Given the description of an element on the screen output the (x, y) to click on. 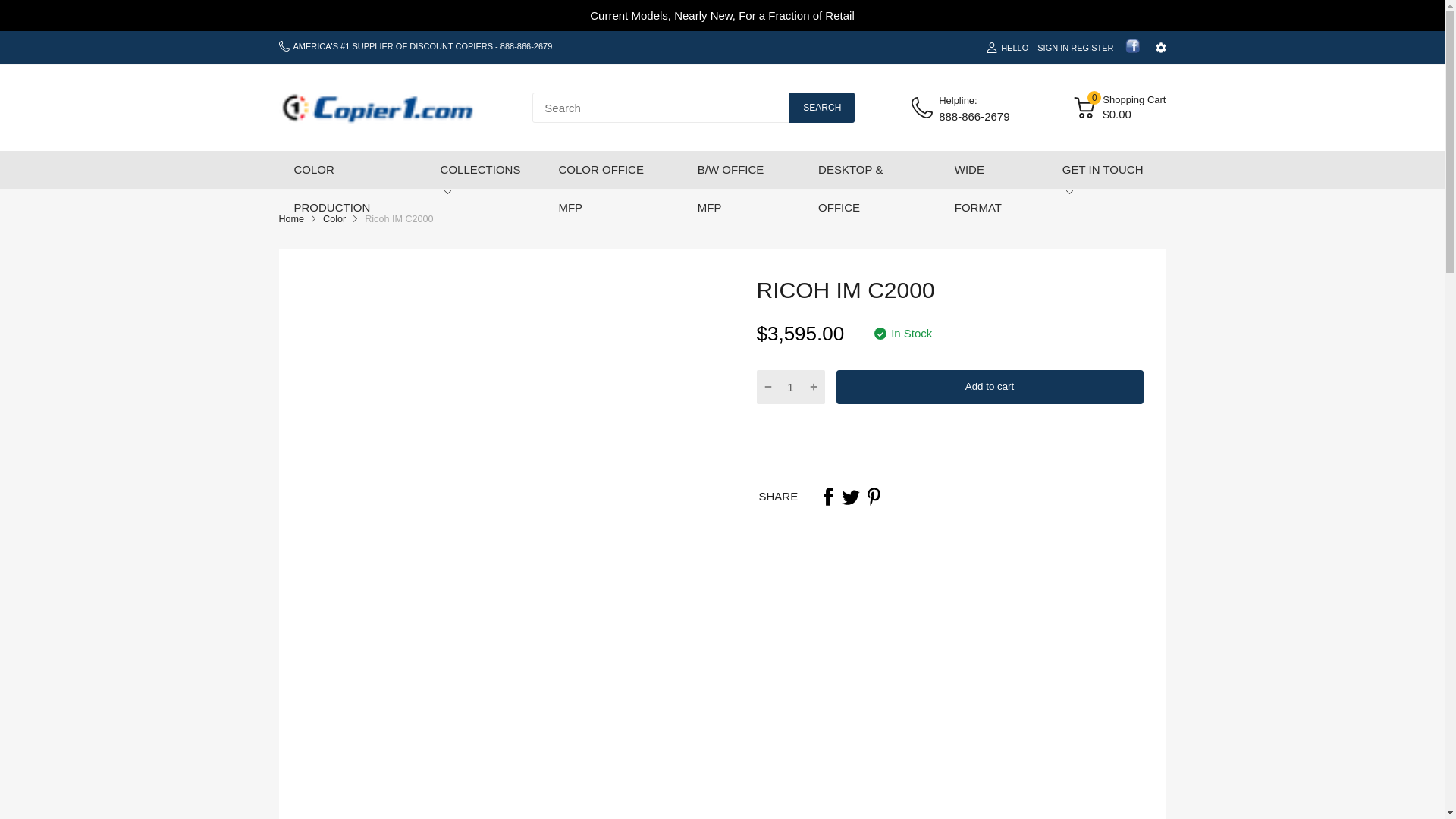
REGISTER (1091, 46)
888-866-2679 (526, 45)
Add to cart (988, 387)
WIDE FORMAT (993, 188)
HELLO (1006, 47)
Facebook (827, 496)
Ricoh IM C2000 (398, 218)
COLOR PRODUCTION (352, 188)
SIGN IN (1052, 46)
Pinterest (873, 496)
